Given the description of an element on the screen output the (x, y) to click on. 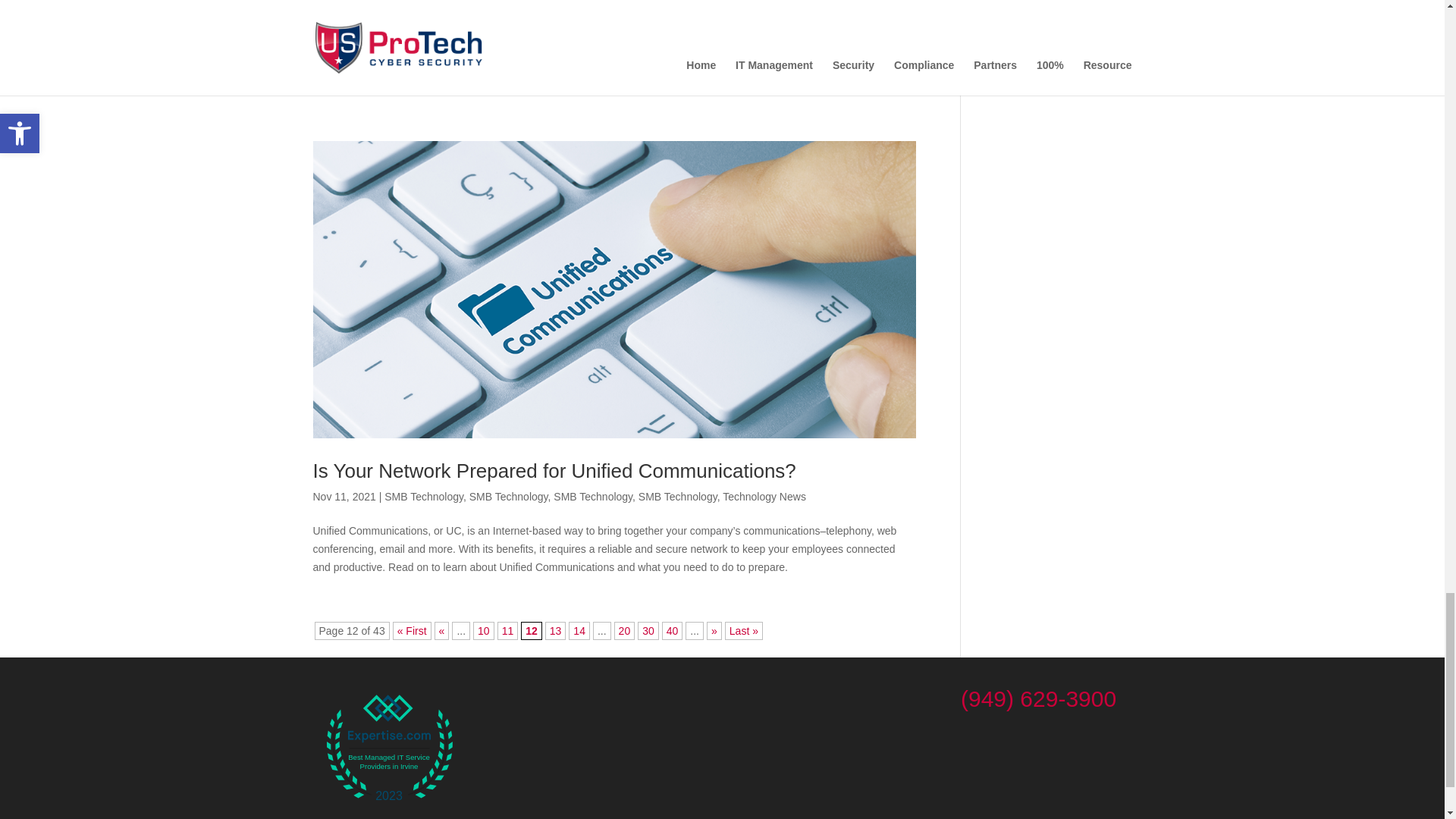
Page 10 (484, 630)
Page 20 (624, 630)
Page 14 (579, 630)
Page 11 (507, 630)
Page 30 (648, 630)
Page 13 (555, 630)
Page 40 (672, 630)
